Given the description of an element on the screen output the (x, y) to click on. 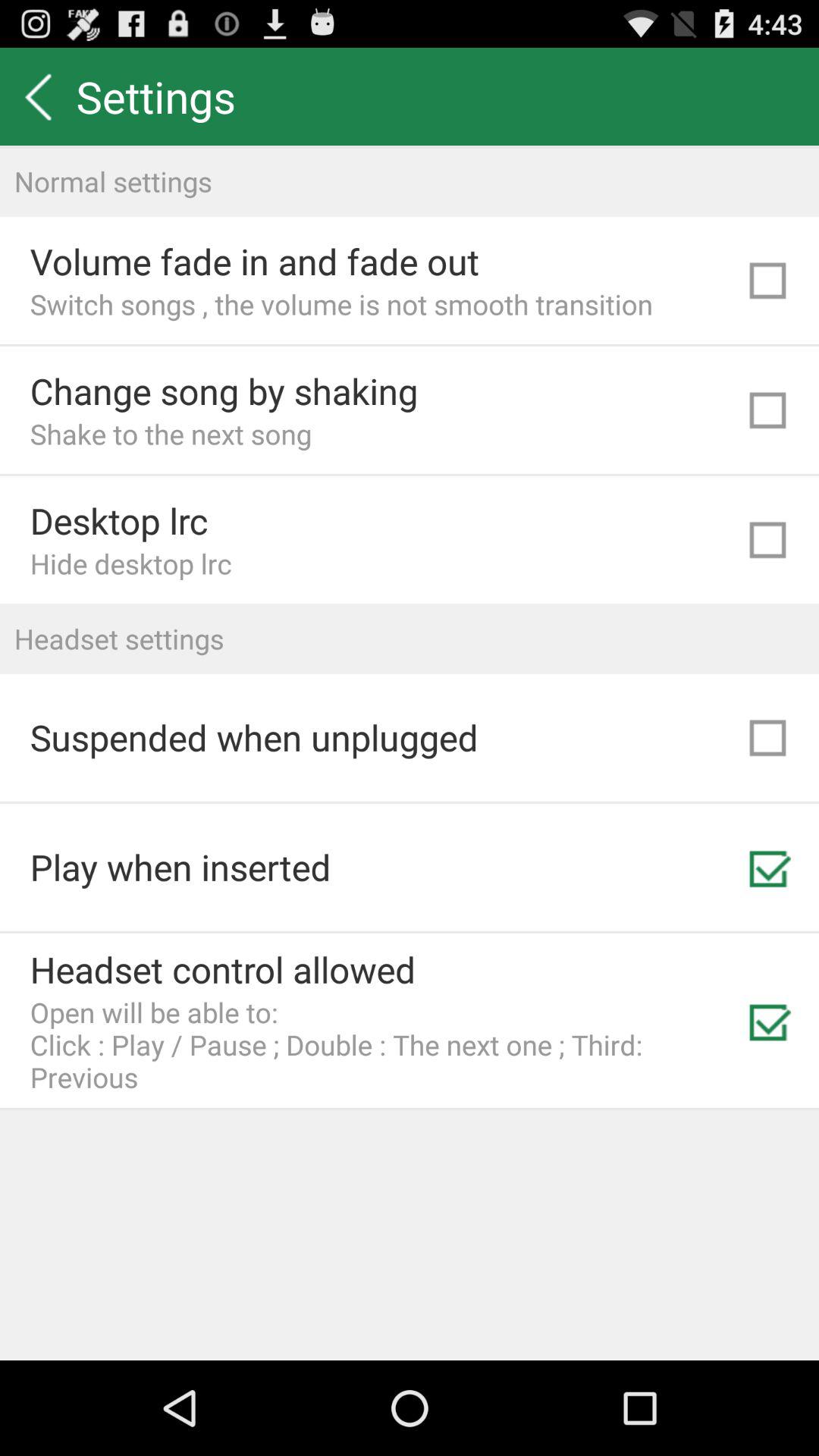
turn on item below headset settings icon (254, 737)
